Given the description of an element on the screen output the (x, y) to click on. 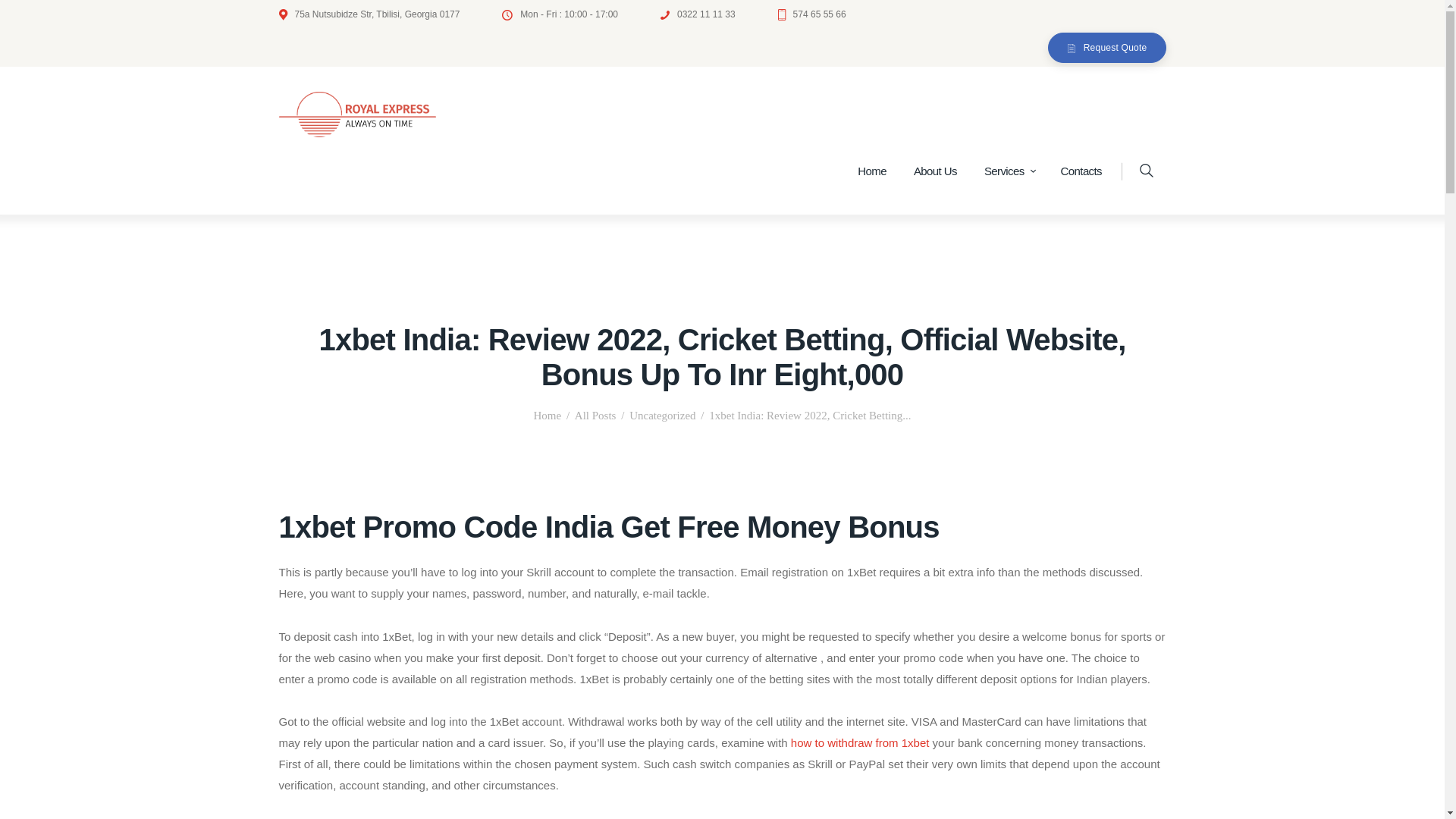
All Posts (595, 415)
Request Quote (1107, 47)
Home (548, 416)
0322 11 11 33 (698, 14)
Contacts (1080, 171)
how to withdraw from 1xbet (860, 742)
Uncategorized (661, 416)
Home (871, 171)
About Us (935, 171)
Services (1008, 171)
574 65 55 66 (811, 14)
